Given the description of an element on the screen output the (x, y) to click on. 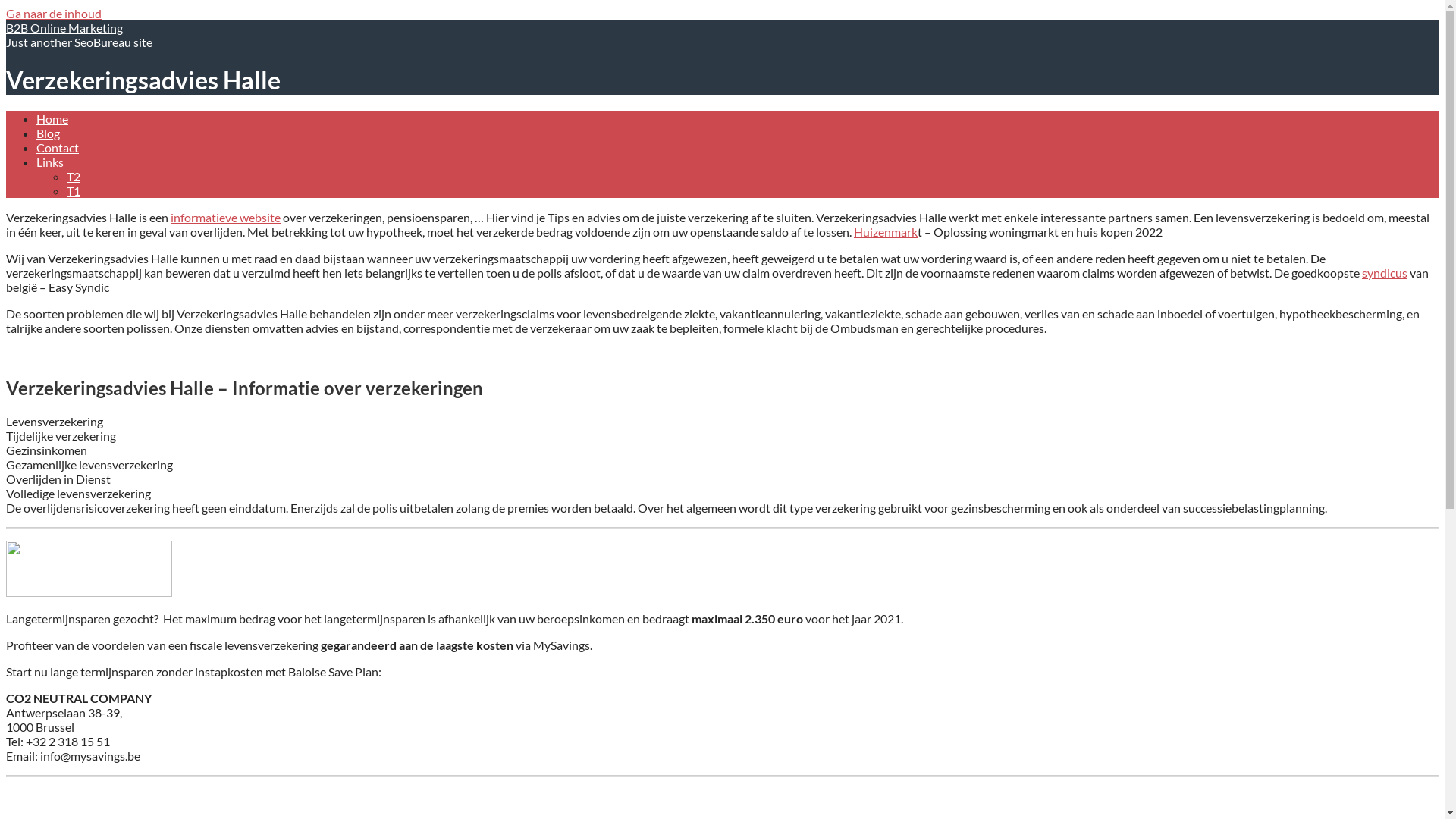
Ga naar de inhoud Element type: text (53, 13)
B2B Online Marketing Element type: text (64, 27)
Contact Element type: text (57, 147)
Links Element type: text (49, 161)
syndicus Element type: text (1384, 272)
Home Element type: text (52, 118)
informatieve website Element type: text (225, 217)
T1 Element type: text (73, 190)
T2 Element type: text (73, 176)
Blog Element type: text (47, 132)
Huizenmark Element type: text (885, 231)
